Given the description of an element on the screen output the (x, y) to click on. 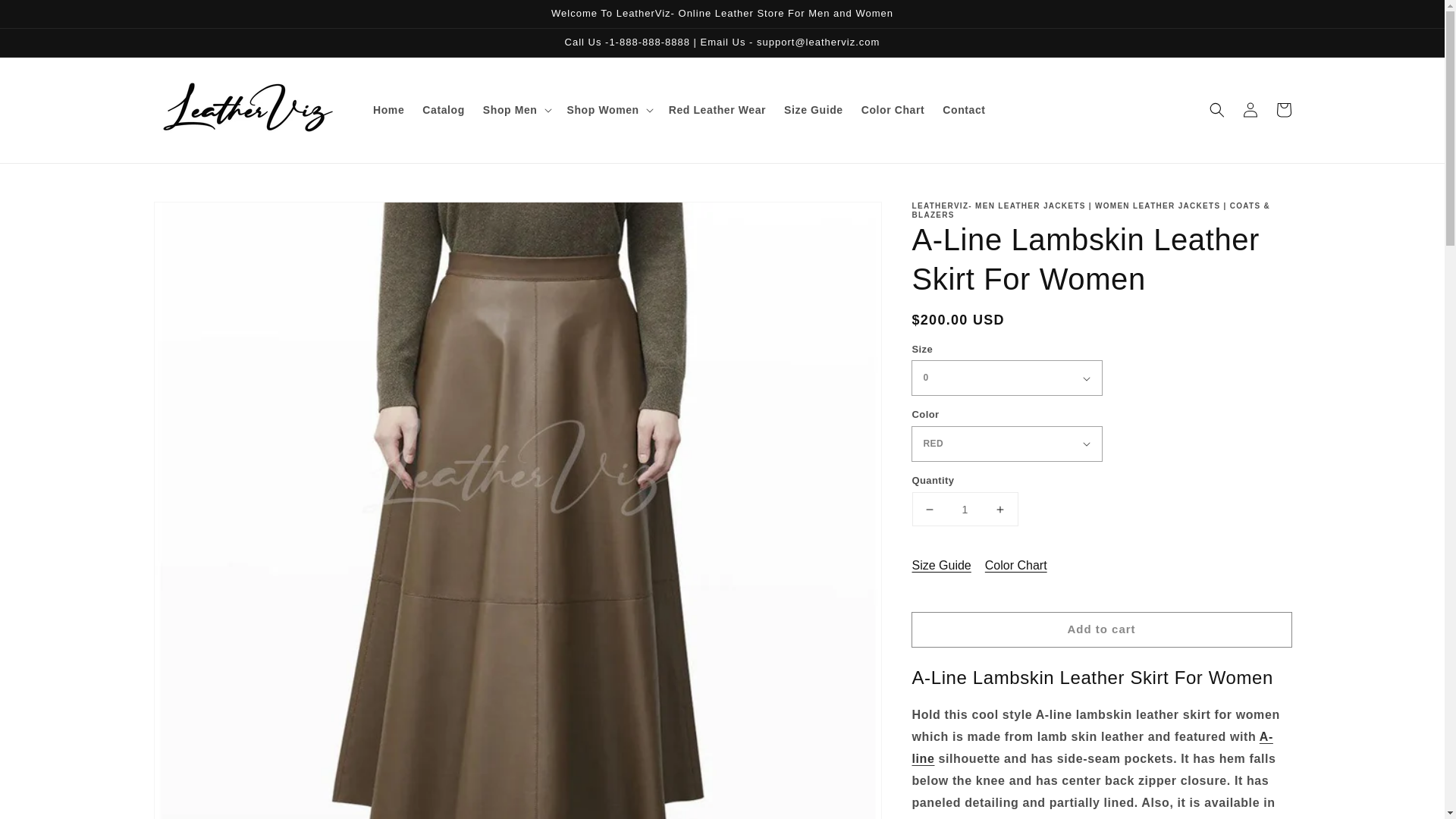
Catalog (443, 110)
Home (388, 110)
A line Blue Leather Maxi Dress  (1091, 747)
Skip to content (45, 16)
1 (964, 509)
